Given the description of an element on the screen output the (x, y) to click on. 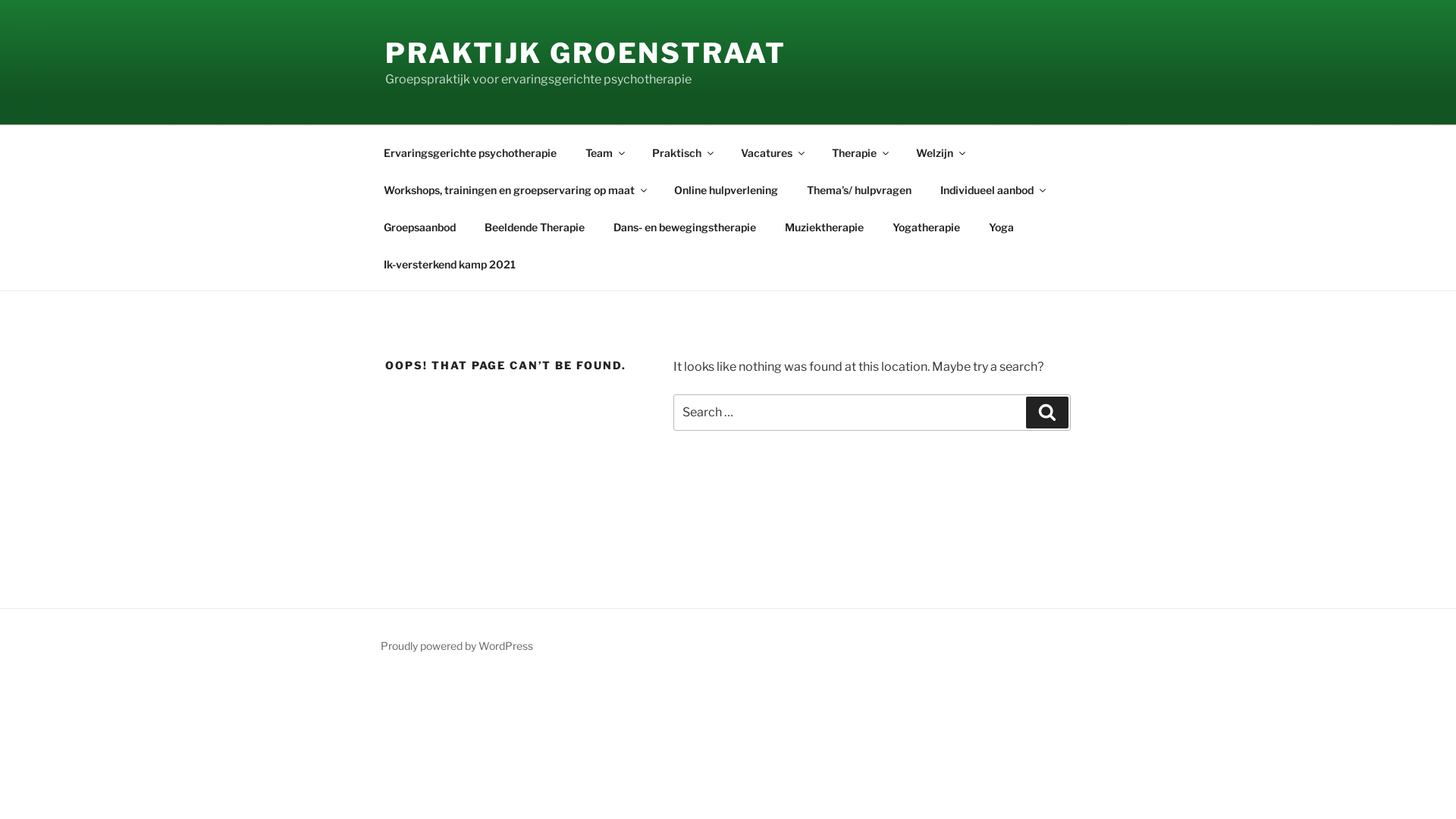
Skip to content Element type: text (0, 0)
Ik-versterkend kamp 2021 Element type: text (449, 263)
Welzijn Element type: text (939, 151)
Search Element type: text (1047, 412)
Praktisch Element type: text (681, 151)
PRAKTIJK GROENSTRAAT Element type: text (585, 52)
Yogatherapie Element type: text (925, 225)
Workshops, trainingen en groepservaring op maat Element type: text (514, 189)
Groepsaanbod Element type: text (419, 225)
Ervaringsgerichte psychotherapie Element type: text (469, 151)
Vacatures Element type: text (771, 151)
Team Element type: text (603, 151)
Dans- en bewegingstherapie Element type: text (683, 225)
Proudly powered by WordPress Element type: text (456, 645)
Muziektherapie Element type: text (823, 225)
Online hulpverlening Element type: text (725, 189)
Individueel aanbod Element type: text (991, 189)
Beeldende Therapie Element type: text (533, 225)
Yoga Element type: text (1000, 225)
Therapie Element type: text (859, 151)
